Given the description of an element on the screen output the (x, y) to click on. 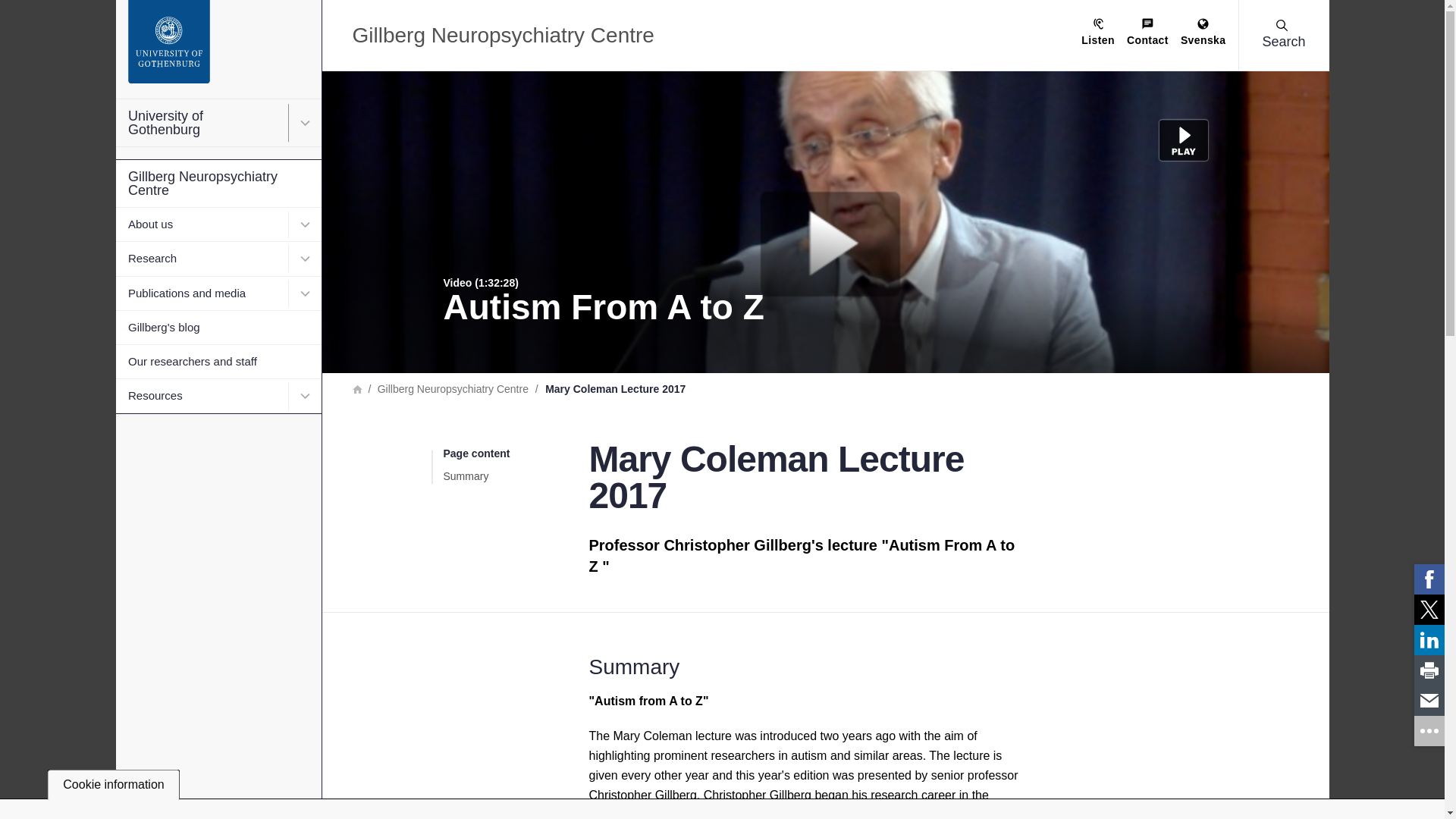
Main menu for University of Gothenburg (304, 122)
Listen with ReadSpeaker (1098, 33)
University of Gothenburg (200, 122)
Publications and media (200, 293)
Search function (105, 11)
